Given the description of an element on the screen output the (x, y) to click on. 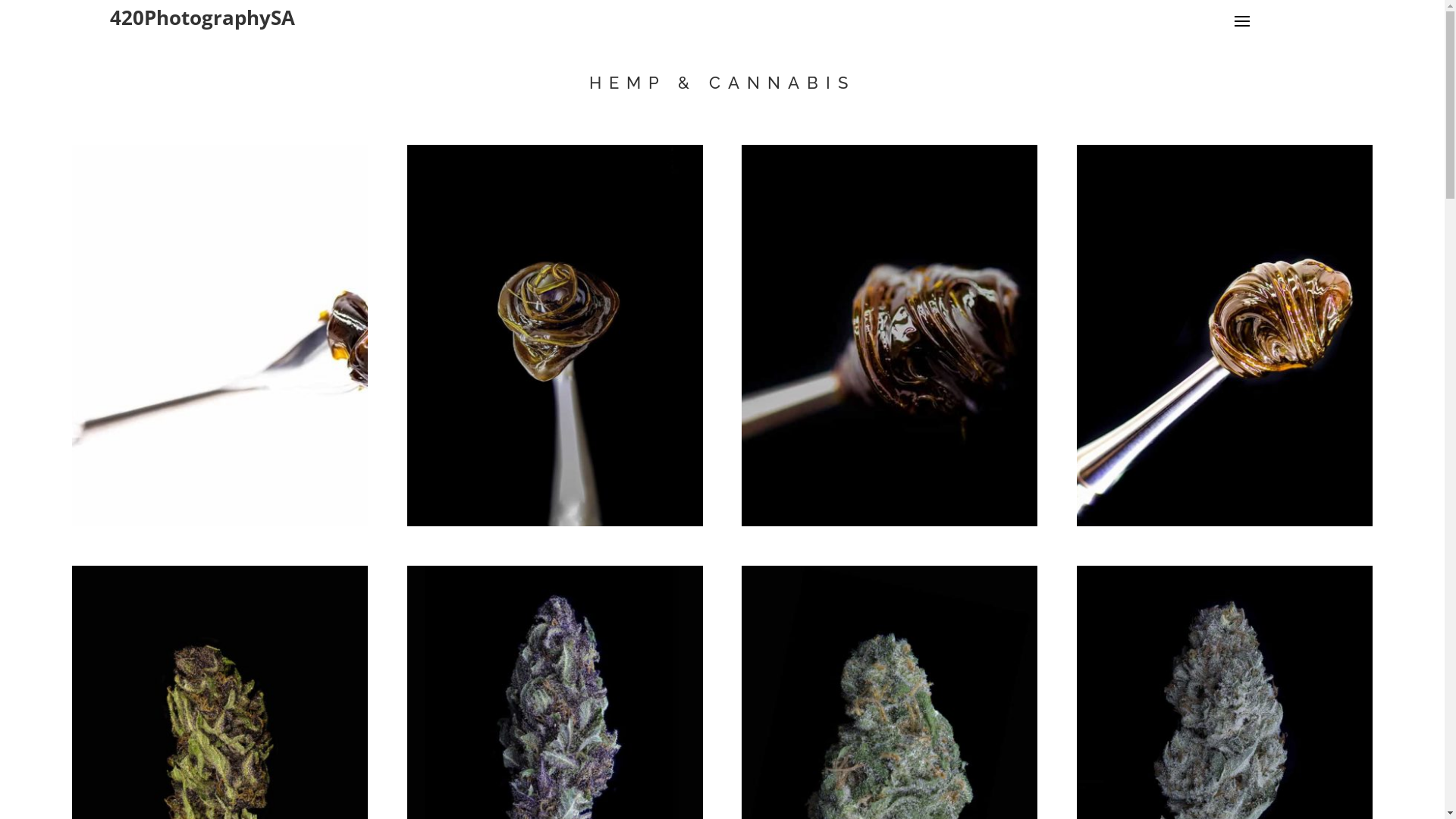
dab_0037 Element type: hover (889, 521)
dab2 Element type: hover (1224, 521)
Dab_0006 Element type: hover (219, 521)
dab_0023 Element type: hover (554, 521)
